Given the description of an element on the screen output the (x, y) to click on. 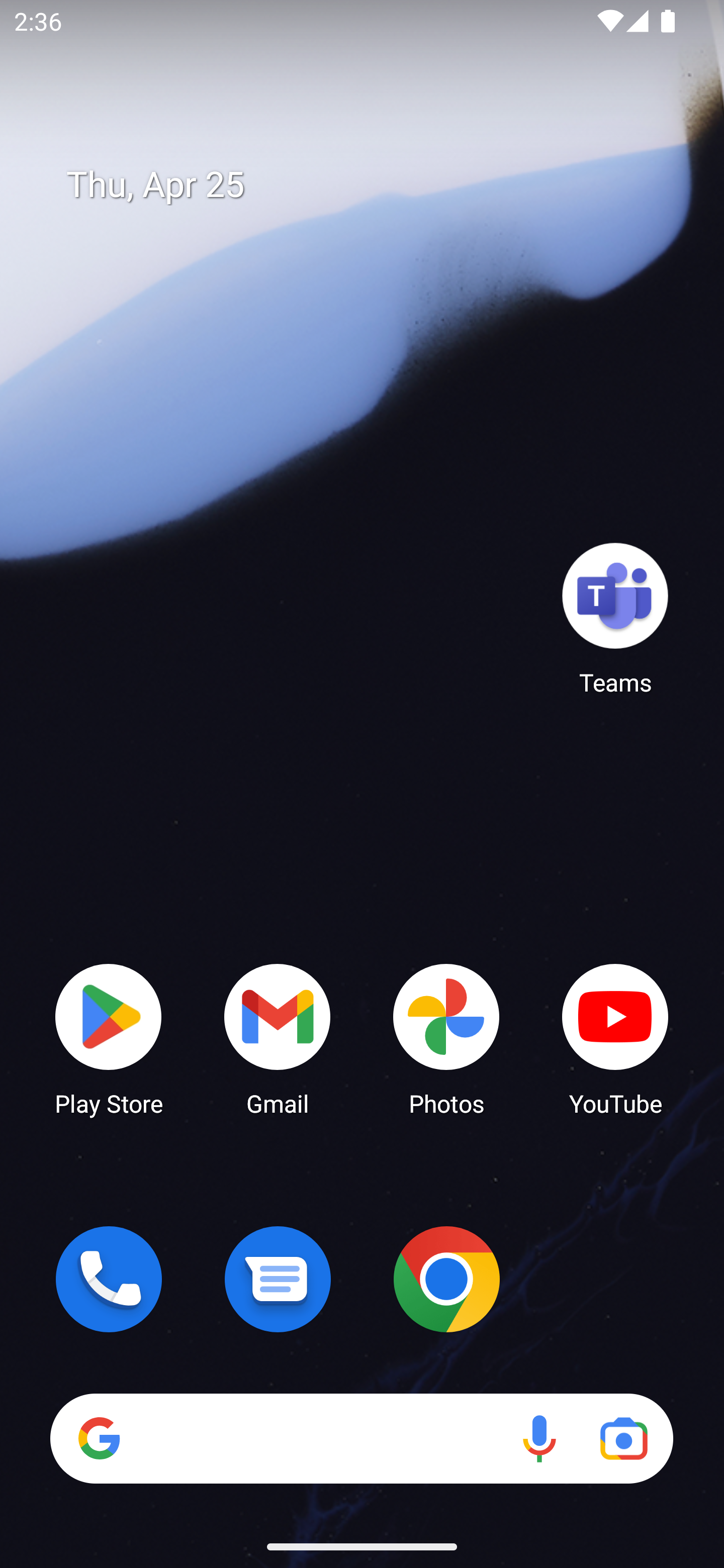
Thu, Apr 25 (375, 184)
Teams (615, 617)
Play Store (108, 1038)
Gmail (277, 1038)
Photos (445, 1038)
YouTube (615, 1038)
Phone (108, 1279)
Messages (277, 1279)
Chrome (446, 1279)
Search Voice search Google Lens (361, 1438)
Voice search (539, 1438)
Google Lens (623, 1438)
